Given the description of an element on the screen output the (x, y) to click on. 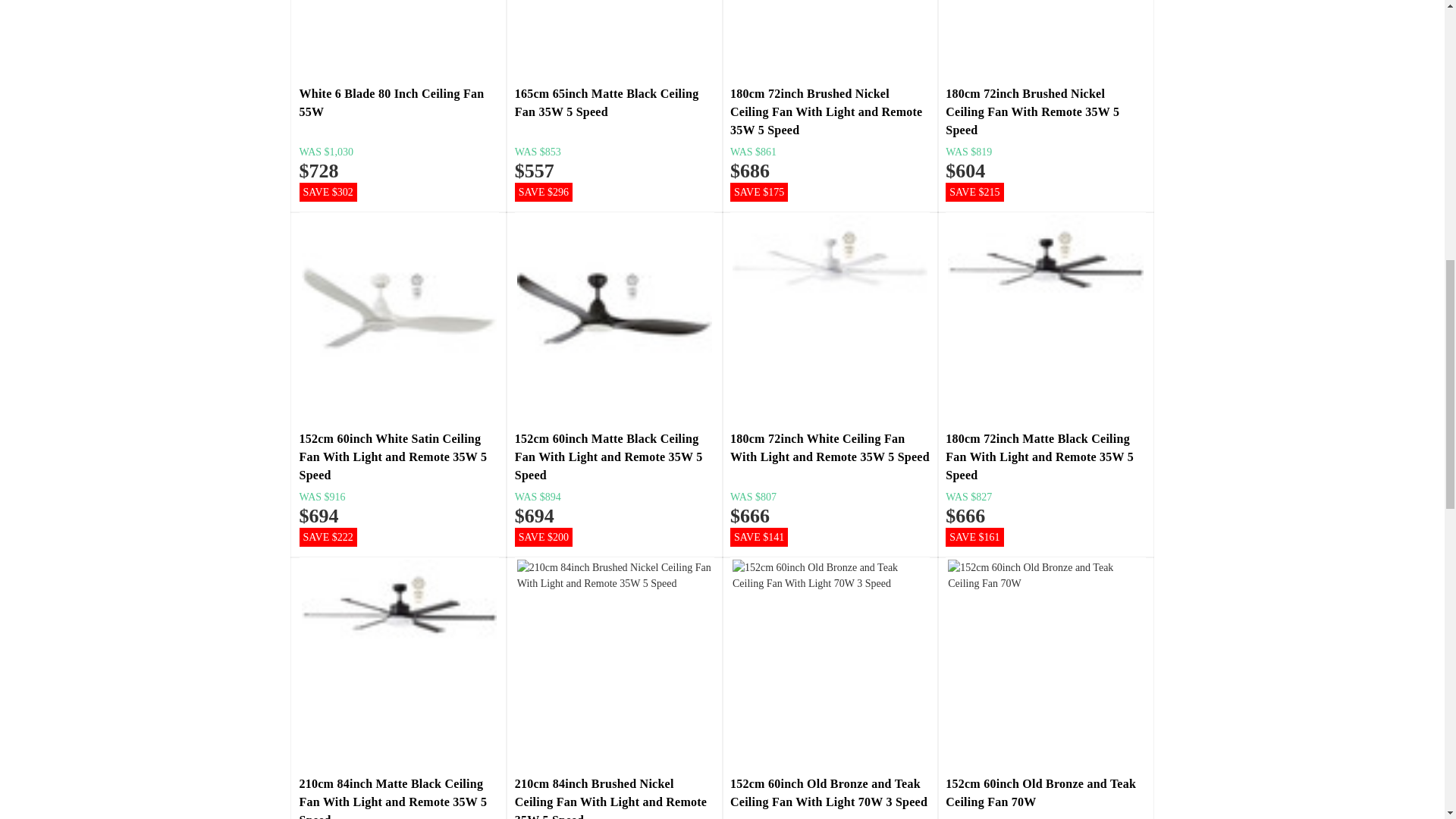
152cm 60inch Old Bronze and Teak Ceiling Fan 70W (1044, 661)
White 6 Blade 80 Inch Ceiling Fan 55W (398, 37)
165cm 65inch Matte Black Ceiling Fan 35W 5 Speed (613, 37)
